Given the description of an element on the screen output the (x, y) to click on. 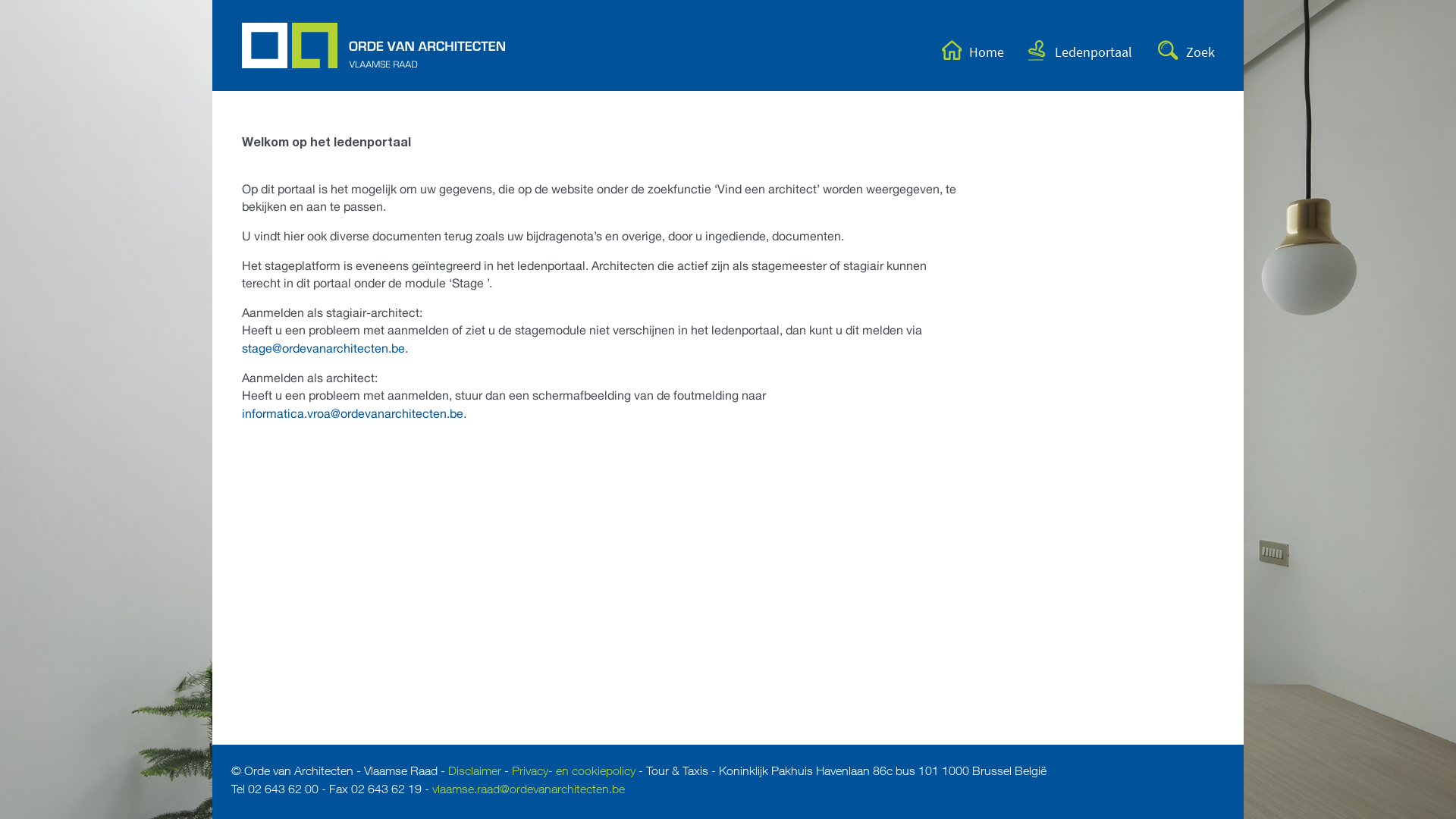
Zoek Element type: text (1174, 48)
Ledenportaal Element type: text (1068, 48)
Disclaimer Element type: text (474, 772)
Privacy- en cookiepolicy Element type: text (573, 772)
informatica.vroa@ordevanarchitecten.be Element type: text (351, 413)
stage@ordevanarchitecten.be Element type: text (322, 347)
Tel 02 643 62 00 Element type: text (274, 790)
Home Element type: text (961, 48)
vlaamse.raad@ordevanarchitecten.be Element type: text (528, 790)
